Given the description of an element on the screen output the (x, y) to click on. 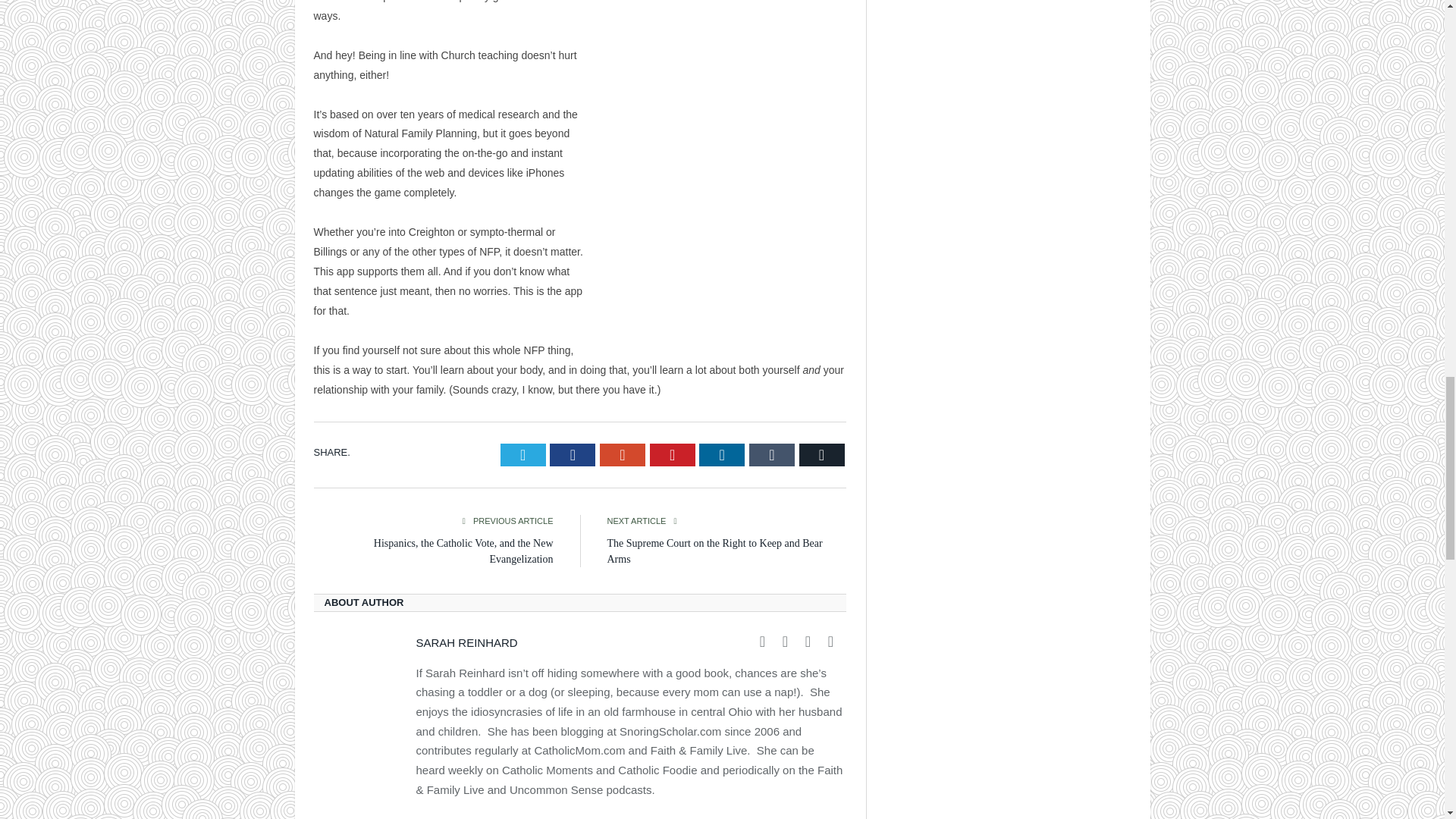
Facebook (572, 454)
Twitter (523, 454)
Tumblr (771, 454)
LinkedIn (721, 454)
Pinterest (672, 454)
Email (821, 454)
